Given the description of an element on the screen output the (x, y) to click on. 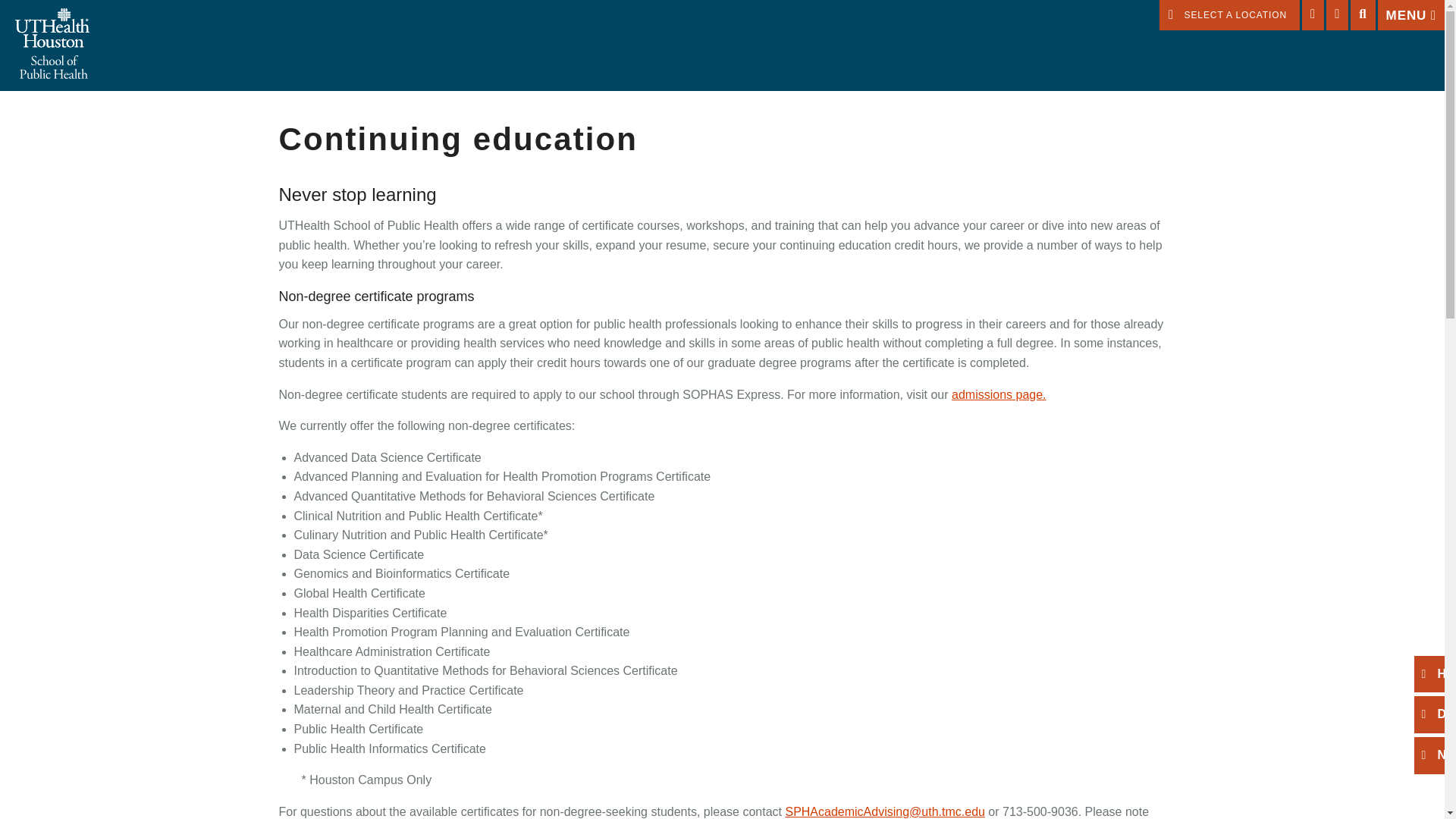
admissions page. (999, 394)
SELECT A LOCATION (1229, 15)
